Given the description of an element on the screen output the (x, y) to click on. 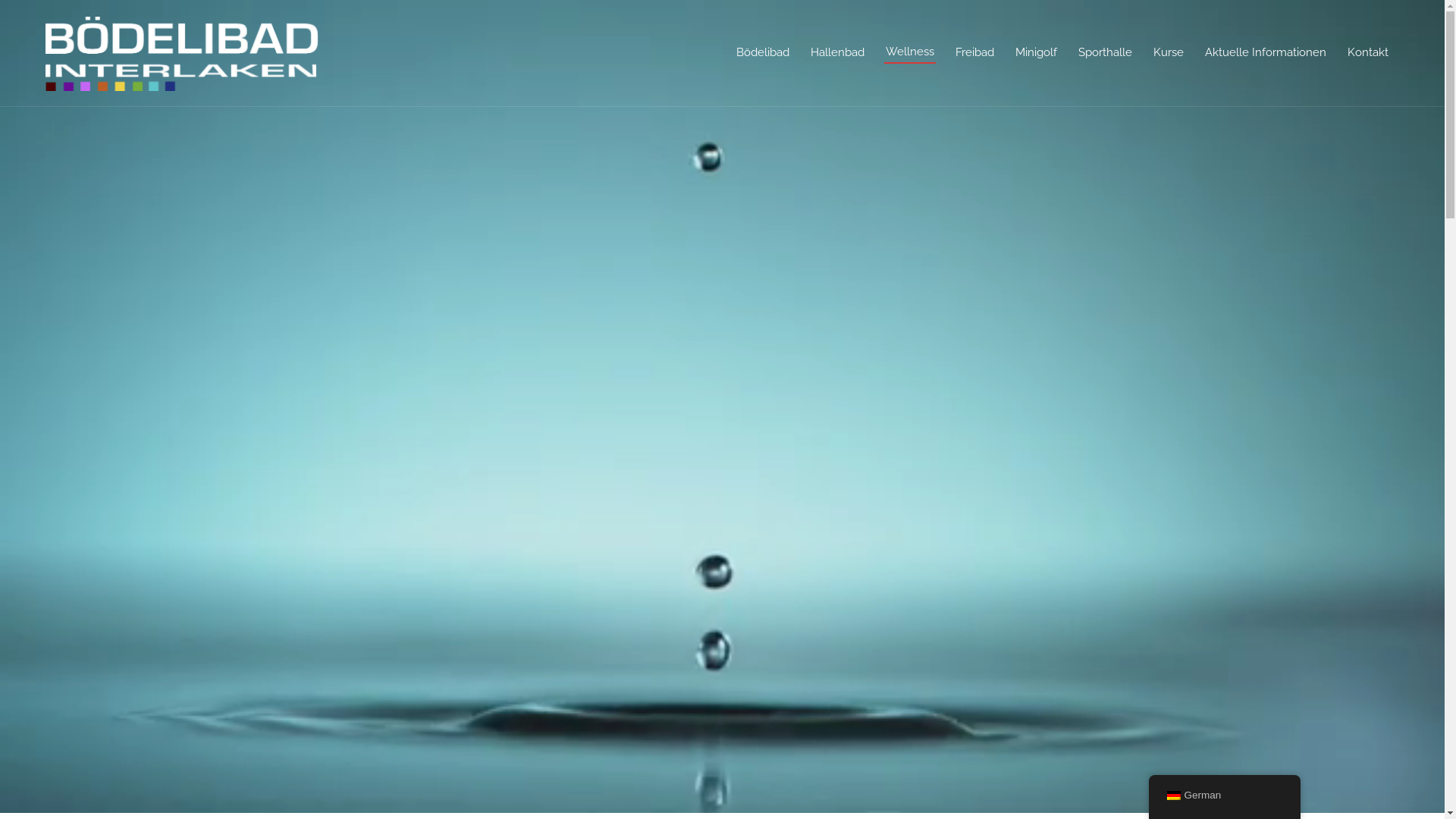
Sporthalle Element type: text (1105, 52)
German Element type: text (1223, 795)
Minigolf Element type: text (1036, 52)
Kurse Element type: text (1168, 52)
Wellness Element type: text (909, 52)
Aktuelle Informationen Element type: text (1265, 52)
Freibad Element type: text (974, 52)
Hallenbad Element type: text (837, 52)
German Element type: hover (1172, 795)
Kontakt Element type: text (1367, 52)
